Given the description of an element on the screen output the (x, y) to click on. 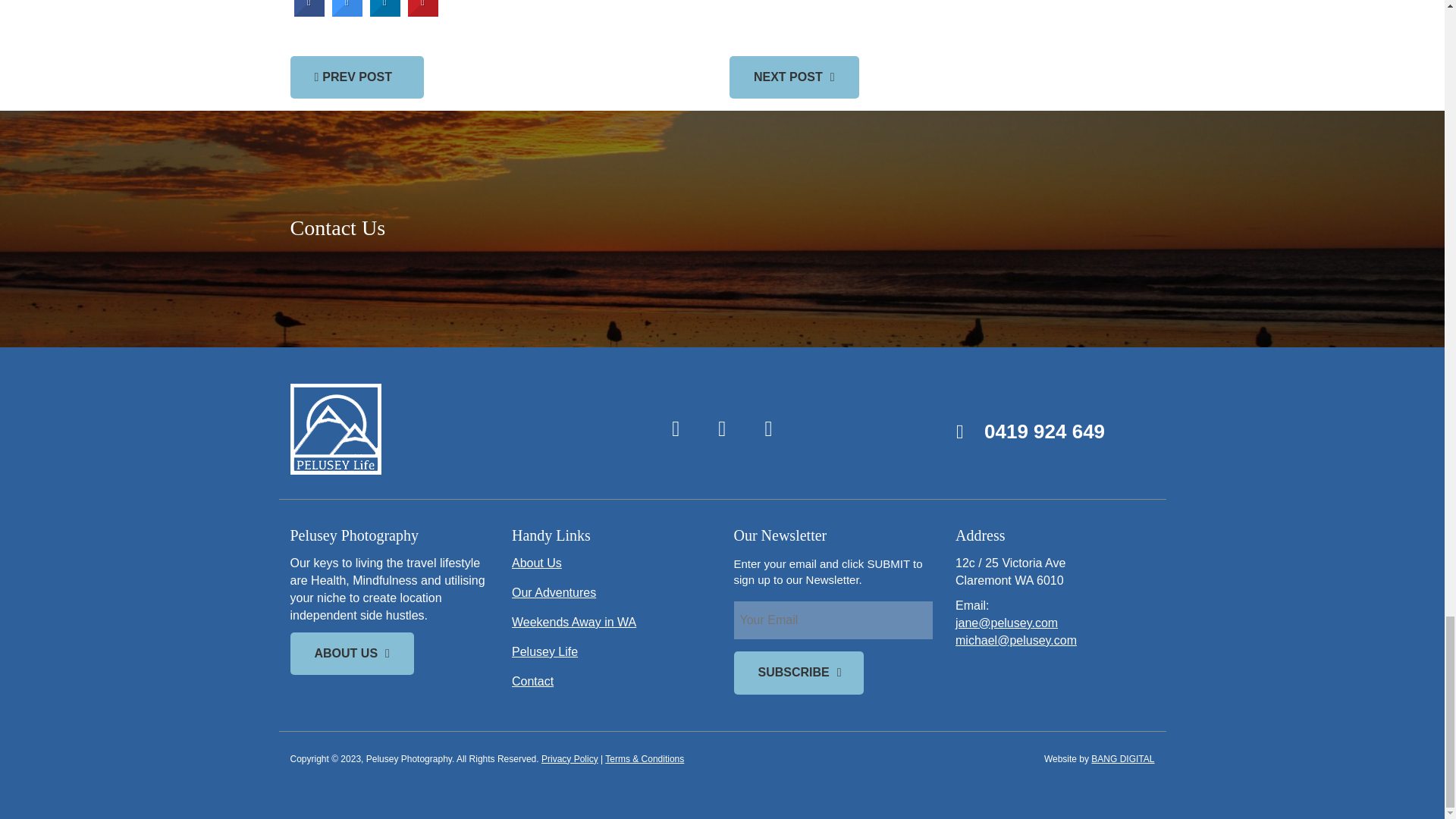
Share on Twitter (346, 11)
Share on Pinterest (422, 11)
Share on Facebook (309, 11)
Subscribe (798, 672)
Pelusey Photography (425, 429)
PREV POST (356, 77)
Share to LinkedIn (384, 11)
NEXT POST (794, 77)
